Given the description of an element on the screen output the (x, y) to click on. 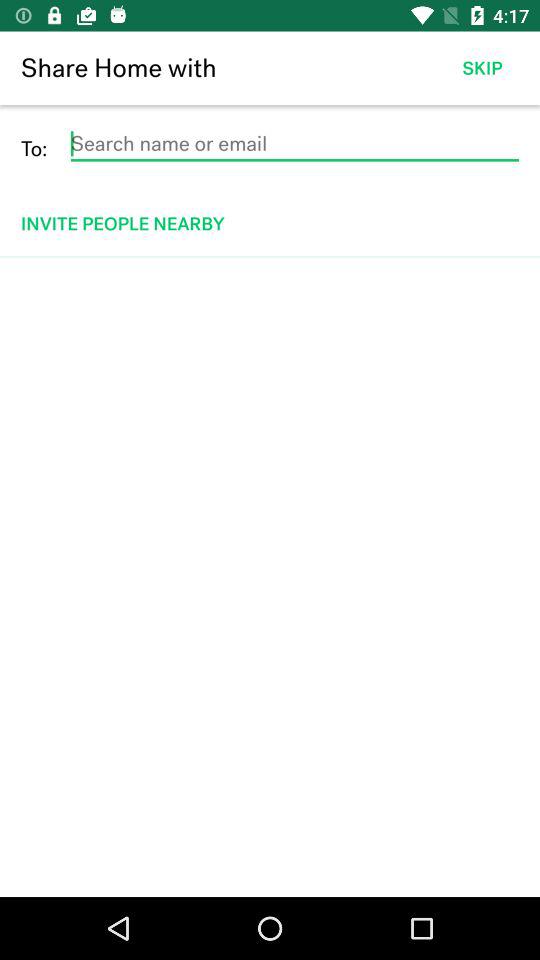
search bar (294, 144)
